Given the description of an element on the screen output the (x, y) to click on. 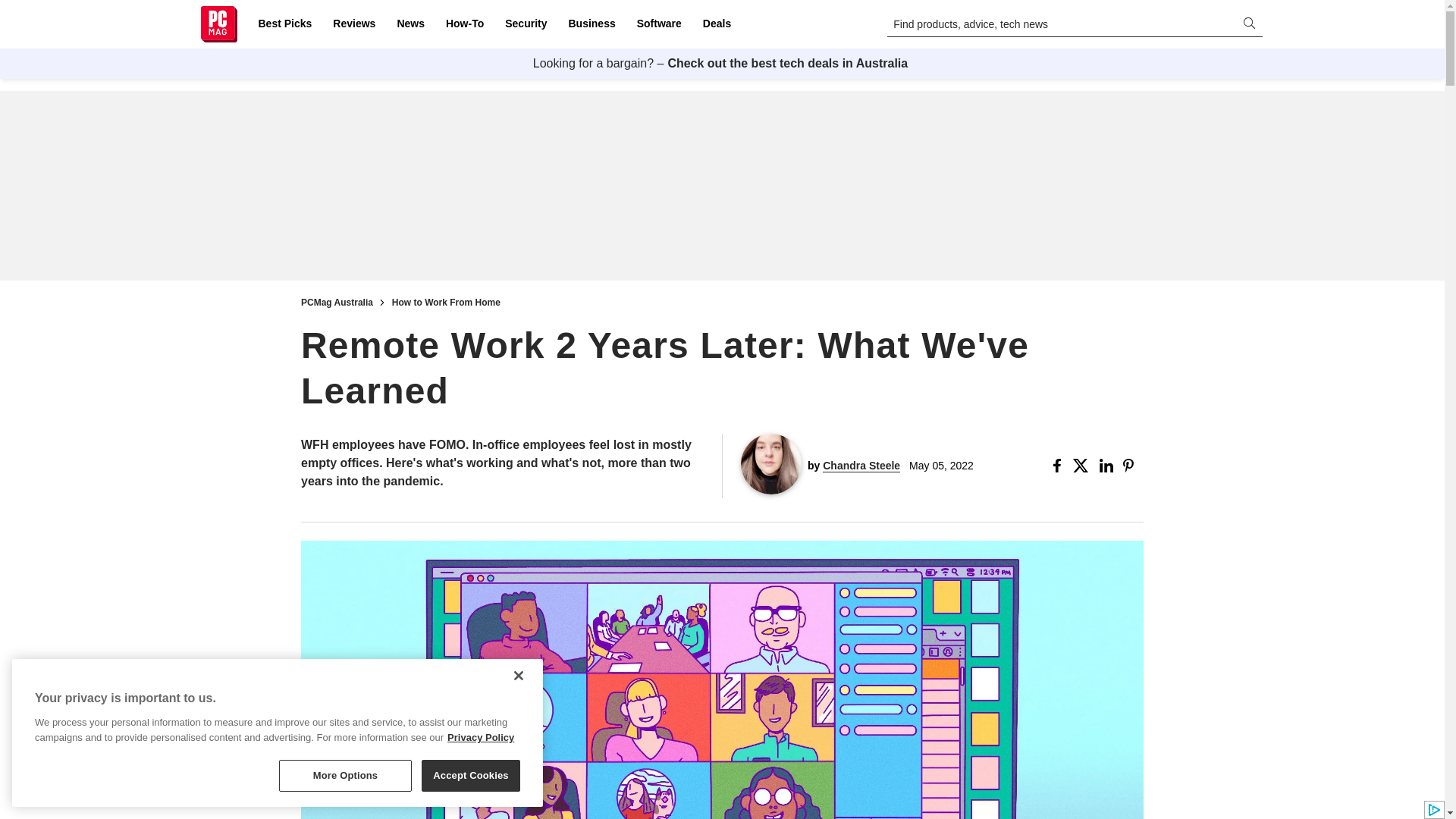
Share this Story on Pinterest (1132, 465)
Share this Story on Linkedin (1107, 465)
Share this Story on X (1083, 465)
Security (526, 24)
Share this Story on Facebook (1059, 465)
Reviews (353, 24)
Business (591, 24)
Best Picks (284, 24)
How-To (464, 24)
